Given the description of an element on the screen output the (x, y) to click on. 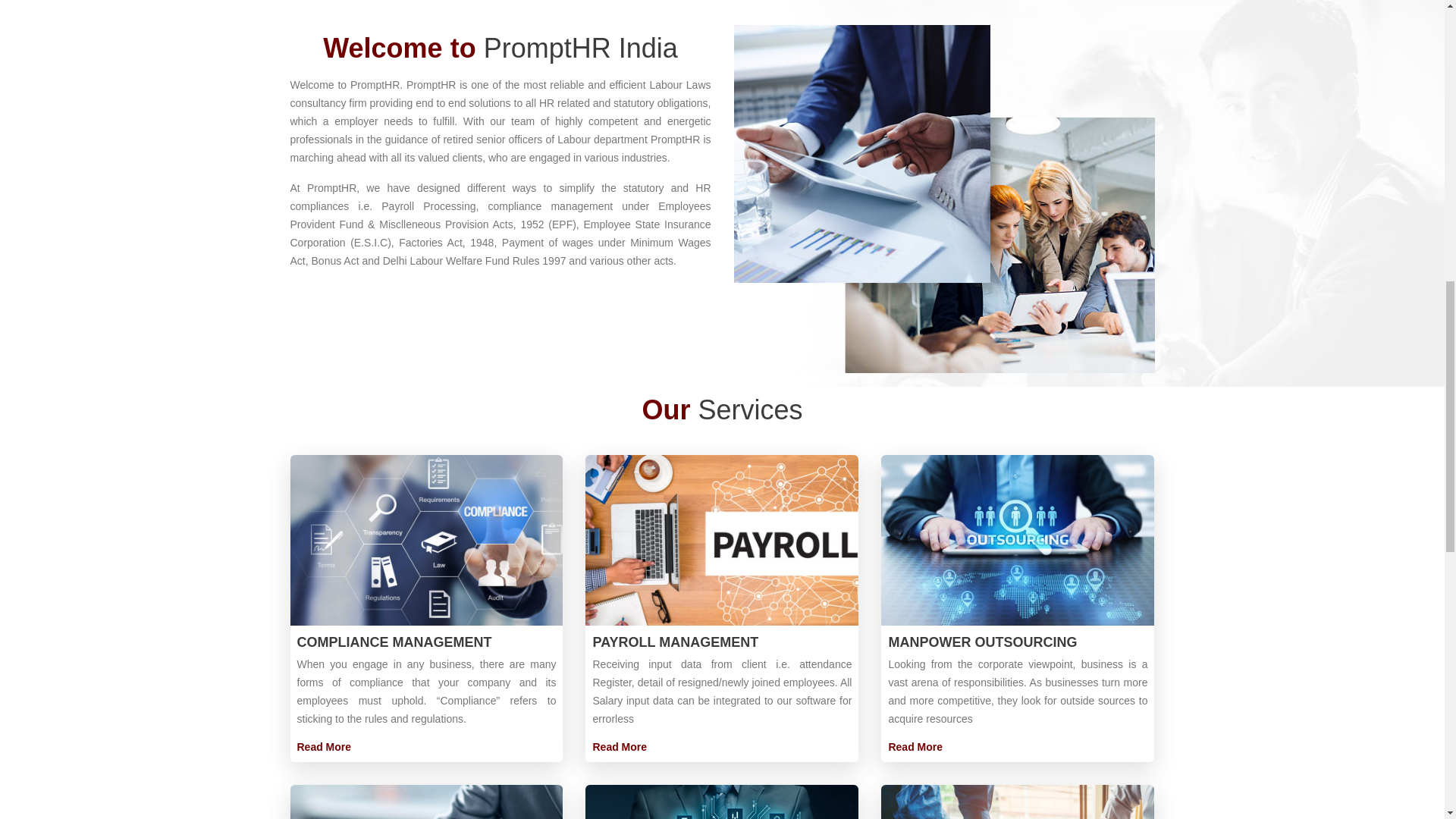
PAYROLL MANAGEMENT (675, 642)
MANPOWER OUTSOURCING (982, 642)
COMPLIANCE MANAGEMENT (394, 642)
Read More (619, 746)
Read More (324, 746)
Read More (915, 746)
